Given the description of an element on the screen output the (x, y) to click on. 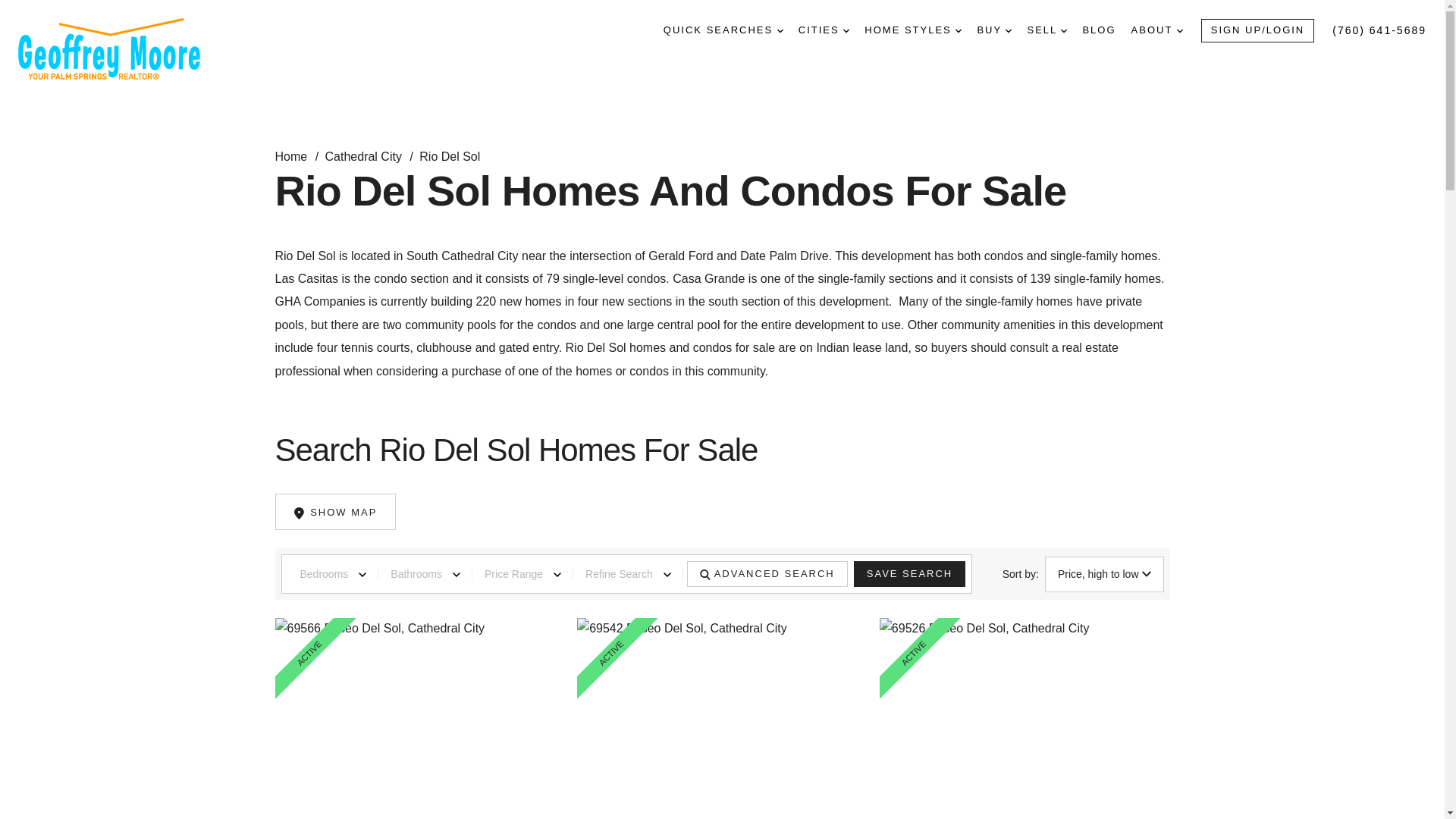
DROPDOWN ARROW (780, 30)
DROPDOWN ARROW (1064, 30)
QUICK SEARCHES DROPDOWN ARROW (723, 30)
CITIES DROPDOWN ARROW (823, 30)
DROPDOWN ARROW (957, 30)
DROPDOWN ARROW (1179, 30)
DROPDOWN ARROW (1008, 30)
HOME STYLES DROPDOWN ARROW (912, 30)
DROPDOWN ARROW (845, 30)
